Given the description of an element on the screen output the (x, y) to click on. 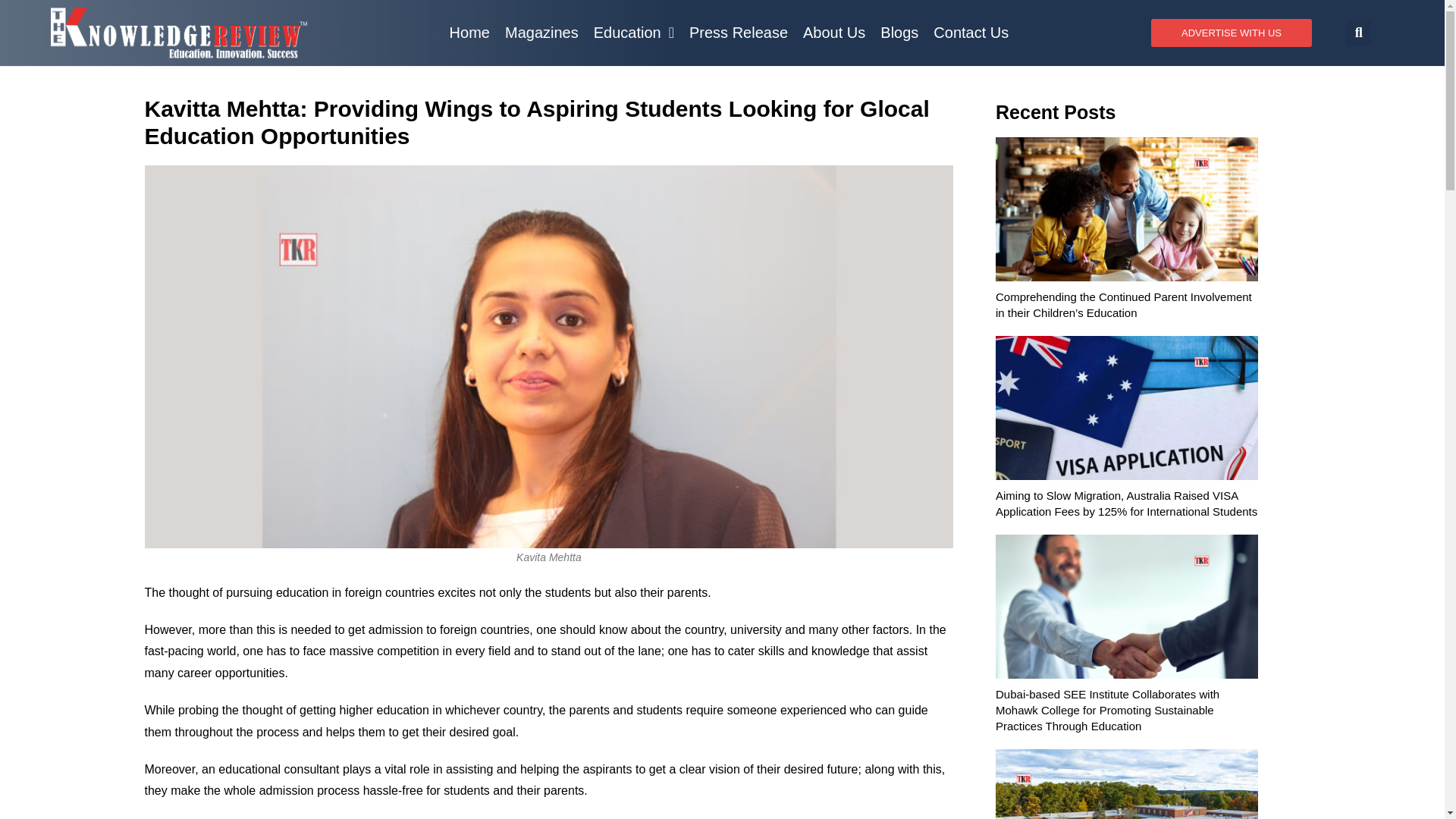
Contact Us (971, 32)
Magazines (541, 32)
About Us (833, 32)
Blogs (899, 32)
Education (633, 32)
ADVERTISE WITH US (1232, 32)
Press Release (737, 32)
Home (469, 32)
